Given the description of an element on the screen output the (x, y) to click on. 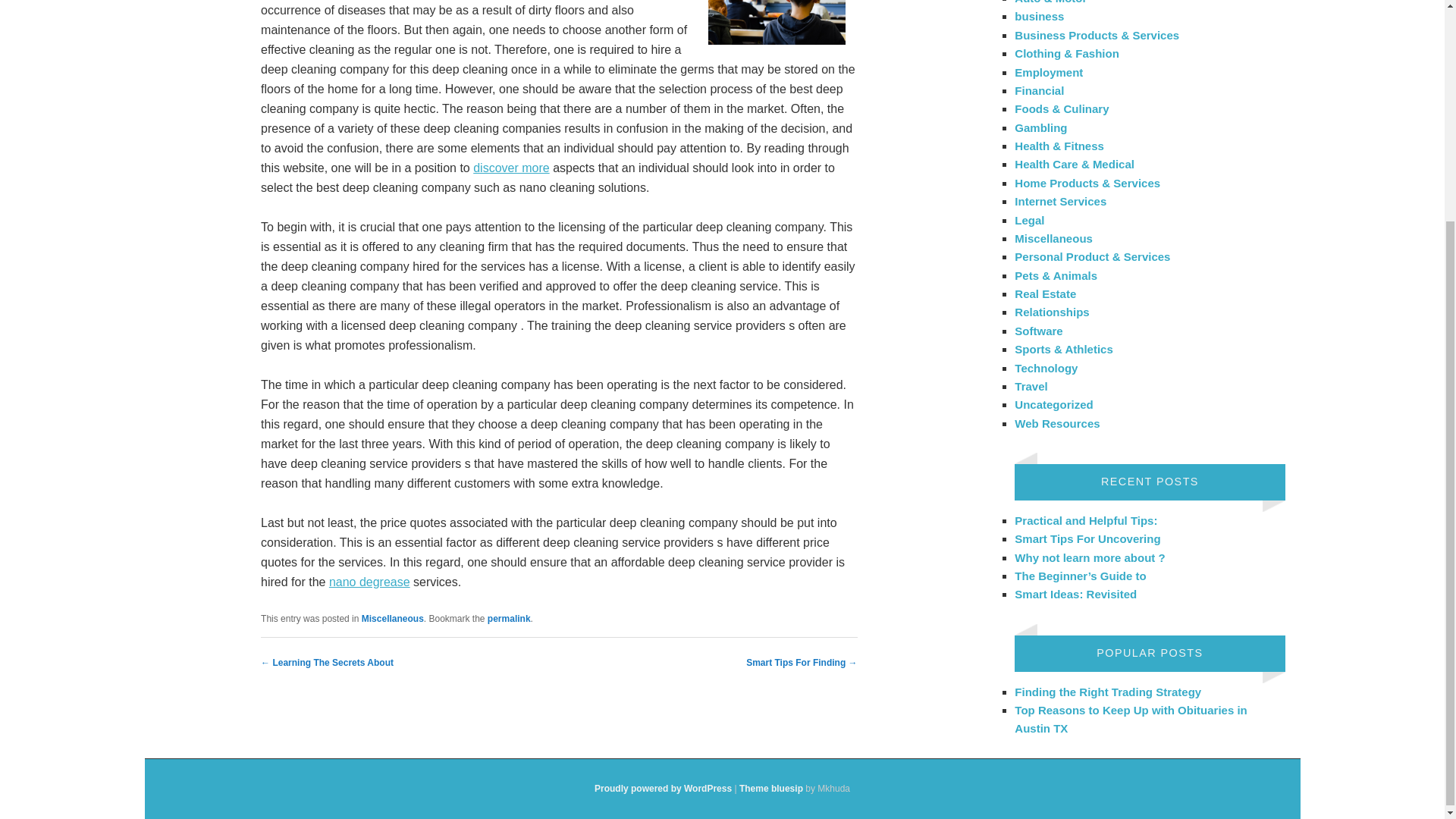
Employment (1048, 71)
Legal (1028, 219)
Finding the Right Trading Strategy (1107, 691)
Real Estate (1044, 293)
Internet Services (1060, 201)
Miscellaneous (392, 618)
nano degrease (369, 581)
Uncategorized (1053, 404)
Technology (1045, 367)
business (1039, 15)
Gambling (1040, 127)
permalink (509, 618)
Top Reasons to Keep Up with Obituaries in Austin TX (1130, 718)
Travel (1030, 386)
Software (1038, 330)
